Given the description of an element on the screen output the (x, y) to click on. 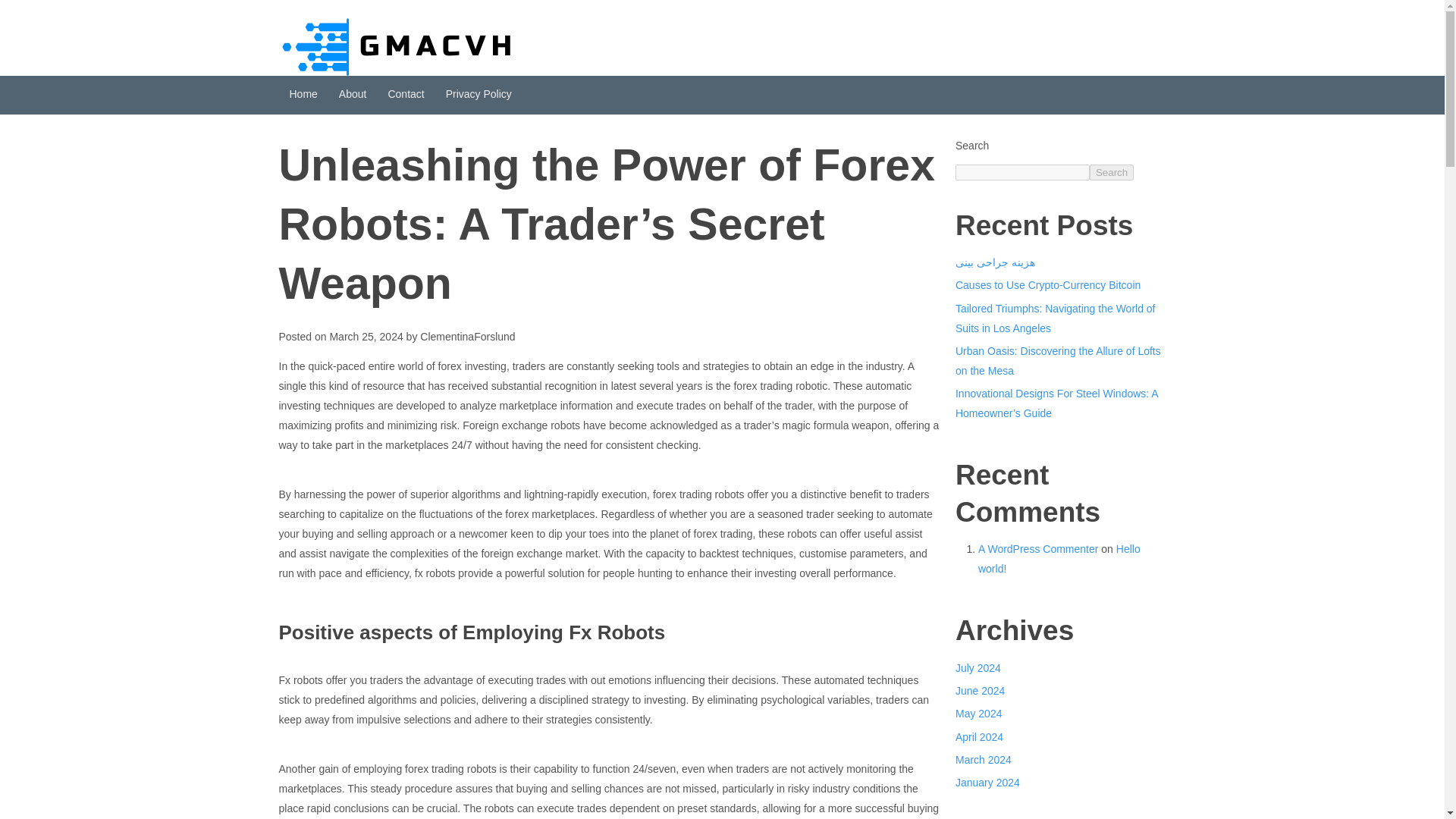
April 2024 (979, 736)
Privacy Policy (478, 95)
A WordPress Commenter (1037, 548)
March 2024 (983, 759)
About (353, 95)
Urban Oasis: Discovering the Allure of Lofts on the Mesa (1057, 360)
Hello world! (1059, 558)
ClementinaForslund (467, 336)
January 2024 (987, 782)
July 2024 (978, 667)
May 2024 (978, 713)
Home (304, 95)
Causes to Use Crypto-Currency Bitcoin (1047, 285)
June 2024 (979, 690)
March 25, 2024 (366, 336)
